Given the description of an element on the screen output the (x, y) to click on. 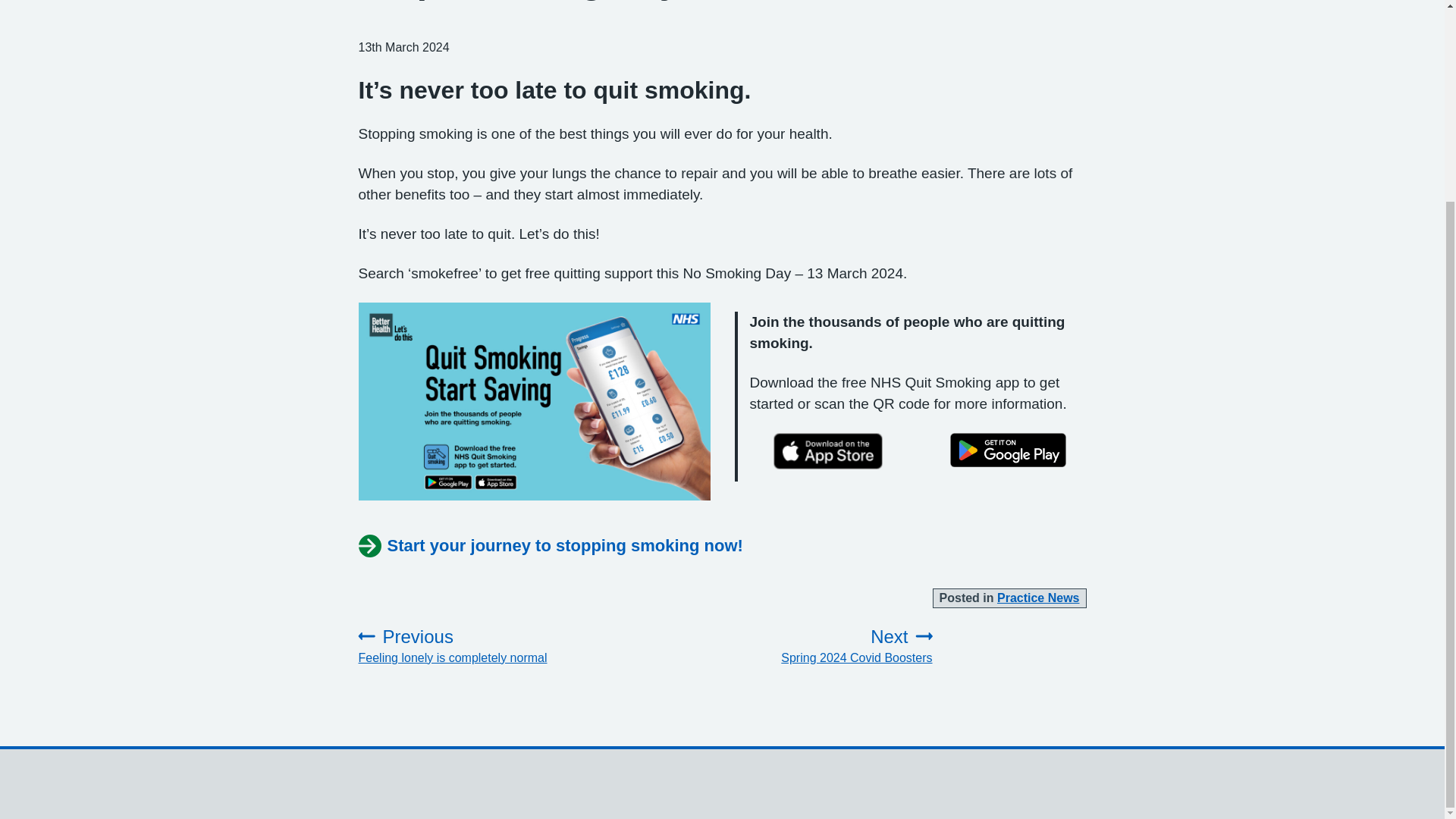
Start your journey to stopping smoking now! (550, 545)
Practice News (1038, 597)
